Given the description of an element on the screen output the (x, y) to click on. 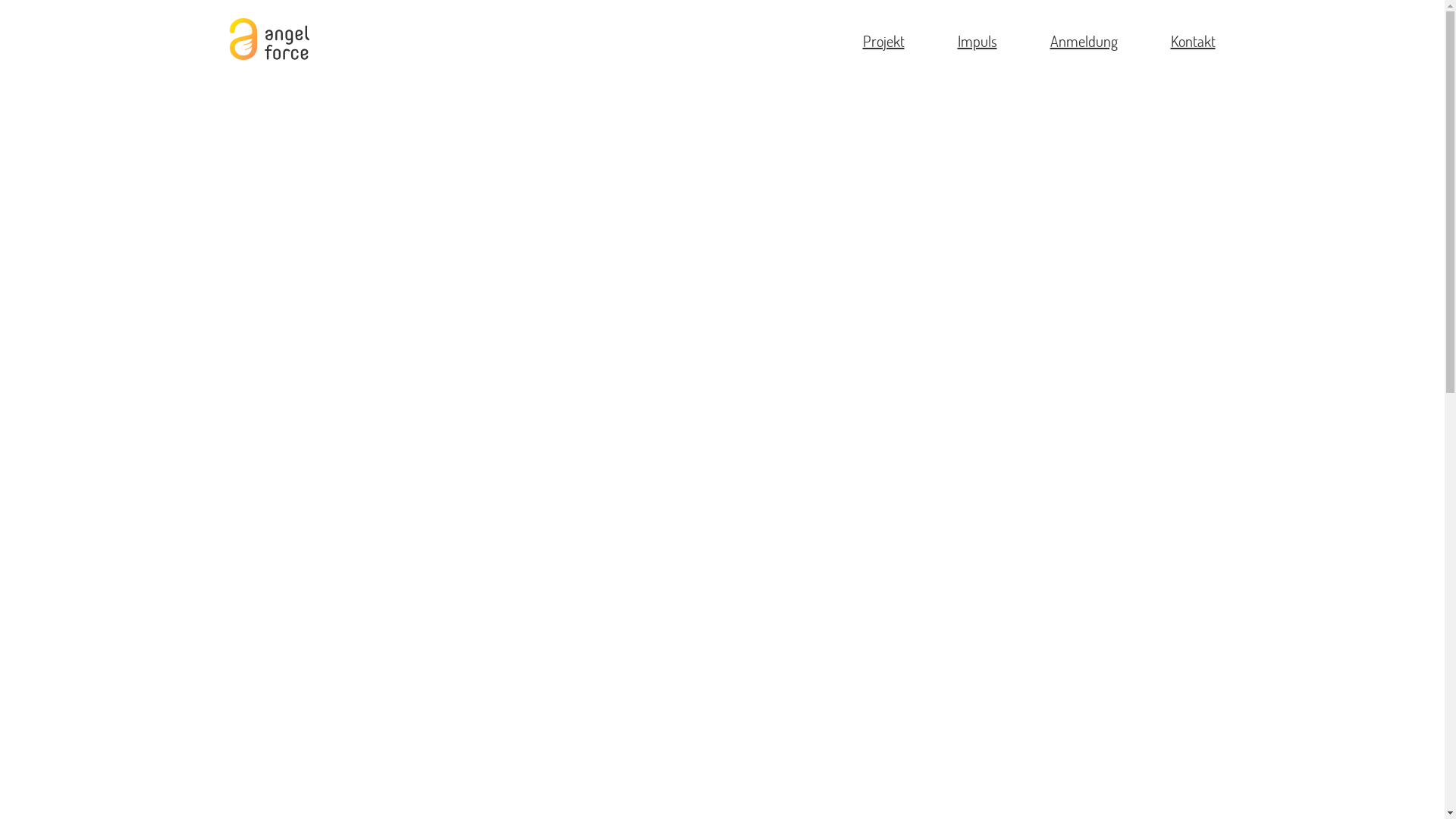
Anmeldung Element type: text (1083, 40)
Impuls Element type: text (976, 40)
Projekt Element type: text (883, 40)
Kontakt Element type: text (1192, 40)
